Given the description of an element on the screen output the (x, y) to click on. 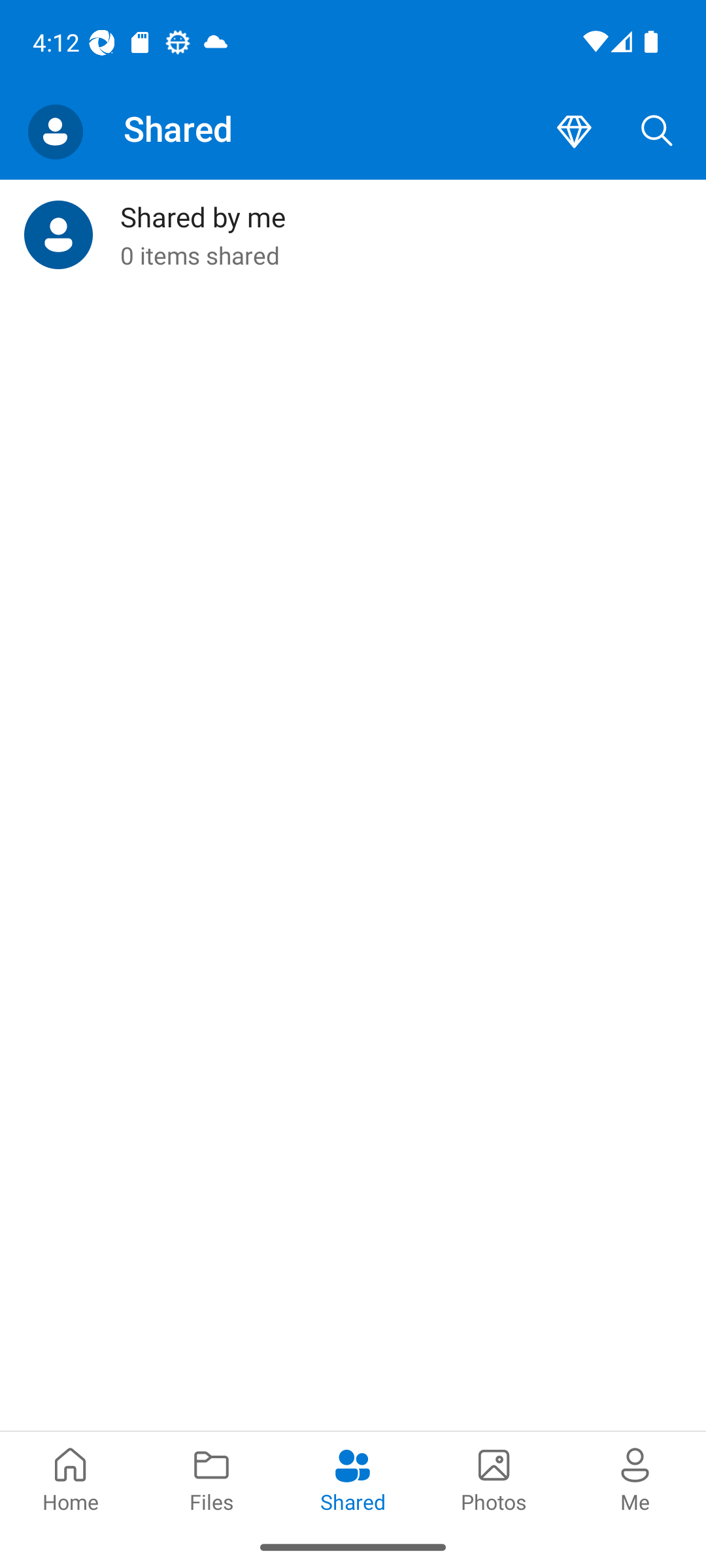
Account switcher (55, 131)
Premium button (574, 131)
Search button (656, 131)
0 Shared by me 0 items shared (353, 235)
Home pivot Home (70, 1478)
Files pivot Files (211, 1478)
Photos pivot Photos (493, 1478)
Me pivot Me (635, 1478)
